Given the description of an element on the screen output the (x, y) to click on. 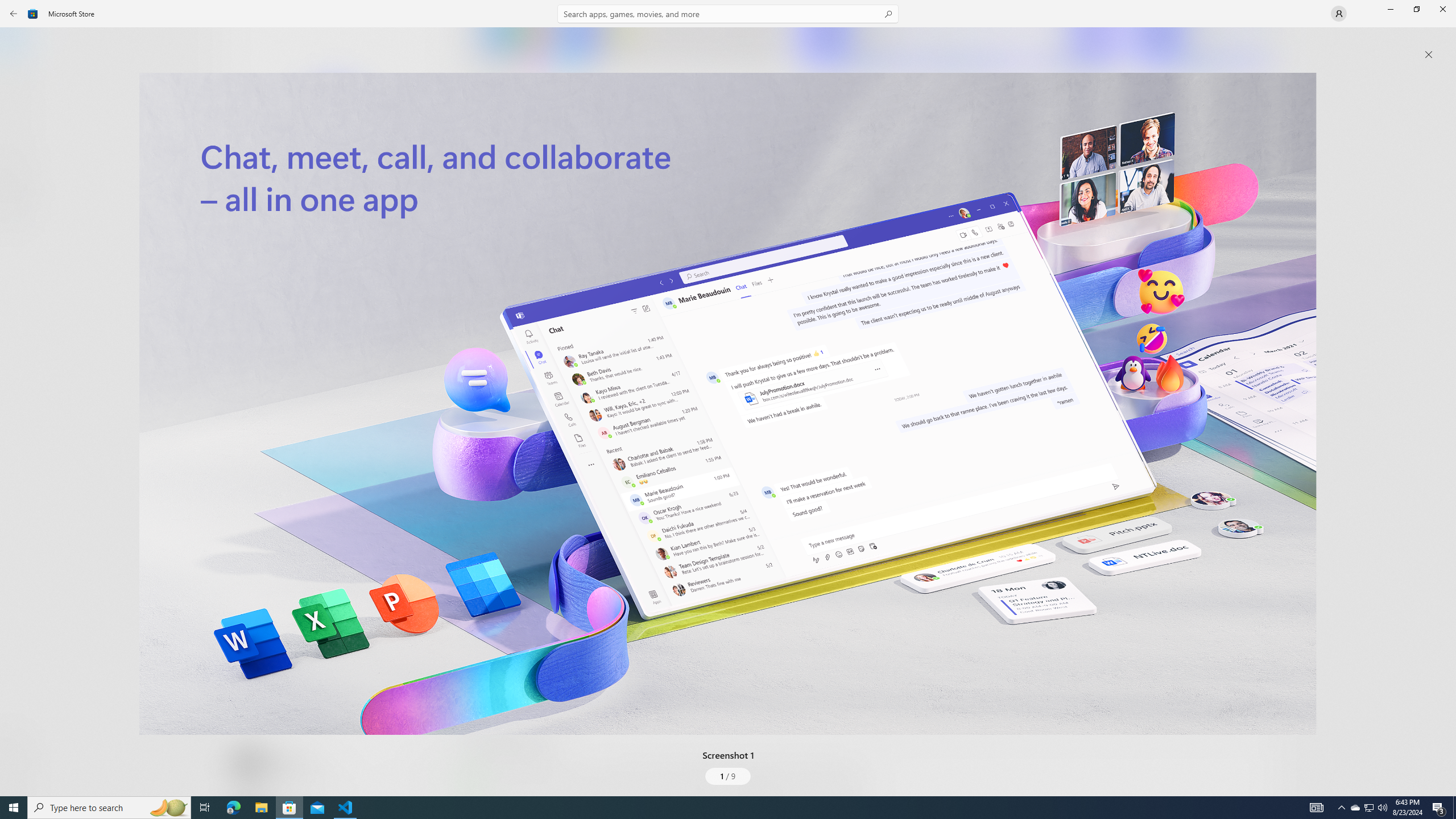
Show less (482, 703)
Microsoft Corporation (383, 189)
Age rating: EVERYONE. Click for more information. (287, 762)
2.6 stars. Click to skip to ratings and reviews (307, 309)
Back (13, 13)
Install (334, 244)
Show all ratings and reviews (477, 527)
Screenshot 2 (959, 46)
Productivity (329, 426)
